Given the description of an element on the screen output the (x, y) to click on. 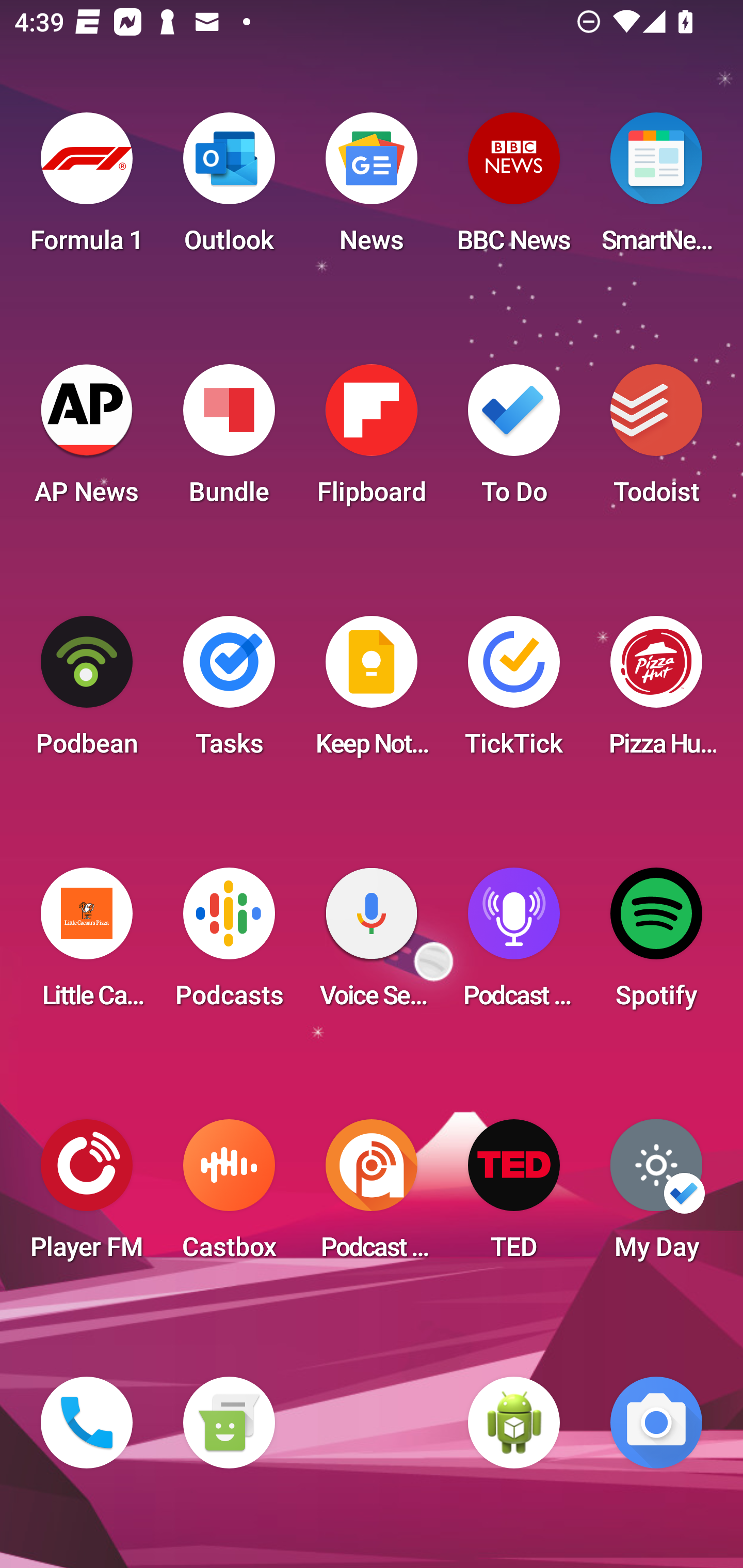
Formula 1 (86, 188)
Outlook (228, 188)
News (371, 188)
BBC News (513, 188)
SmartNews (656, 188)
AP News (86, 440)
Bundle (228, 440)
Flipboard (371, 440)
To Do (513, 440)
Todoist (656, 440)
Podbean (86, 692)
Tasks (228, 692)
Keep Notes (371, 692)
TickTick (513, 692)
Pizza Hut HK & Macau (656, 692)
Little Caesars Pizza (86, 943)
Podcasts (228, 943)
Voice Search (371, 943)
Podcast Player (513, 943)
Spotify (656, 943)
Player FM (86, 1195)
Castbox (228, 1195)
Podcast Addict (371, 1195)
TED (513, 1195)
My Day (656, 1195)
Phone (86, 1422)
Messaging (228, 1422)
WebView Browser Tester (513, 1422)
Camera (656, 1422)
